Given the description of an element on the screen output the (x, y) to click on. 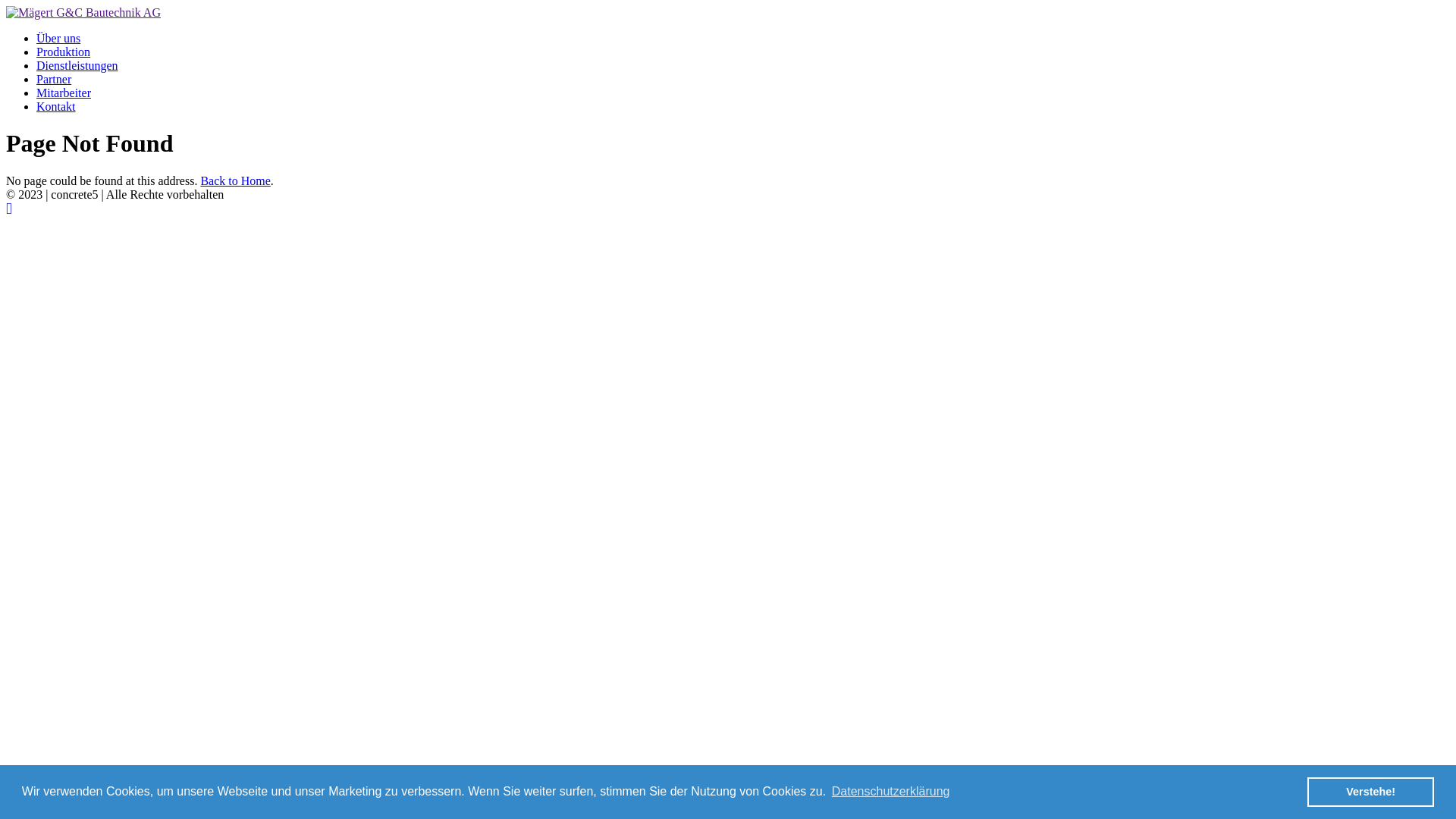
Partner Element type: text (53, 78)
Mitarbeiter Element type: text (63, 92)
Zur Navigation springen Element type: hover (9, 207)
Produktion Element type: text (63, 51)
Back to Home Element type: text (234, 180)
Verstehe! Element type: text (1370, 791)
Kontakt Element type: text (55, 106)
Dienstleistungen Element type: text (77, 65)
